Given the description of an element on the screen output the (x, y) to click on. 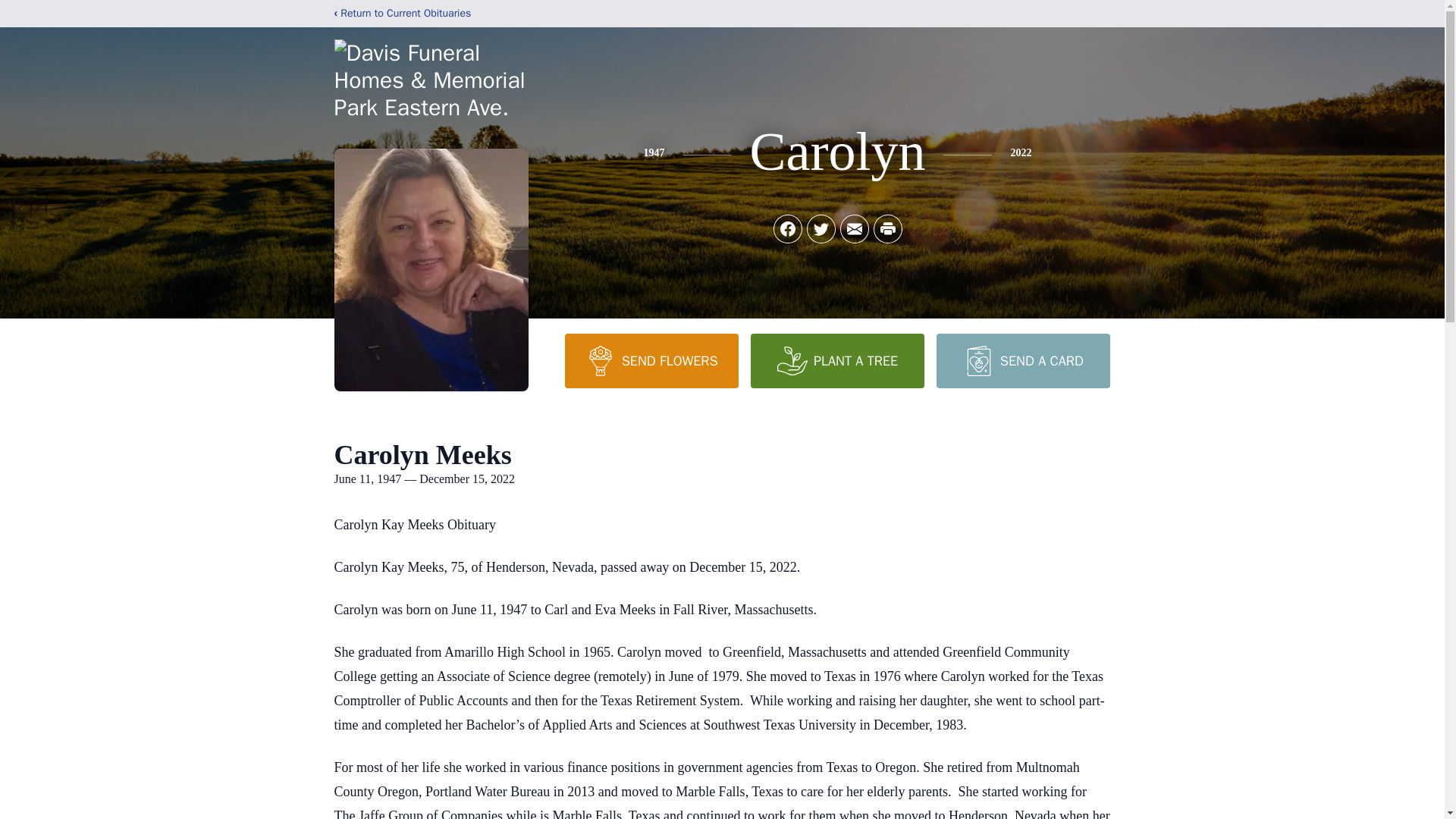
SEND A CARD (1022, 360)
PLANT A TREE (837, 360)
SEND FLOWERS (651, 360)
